Given the description of an element on the screen output the (x, y) to click on. 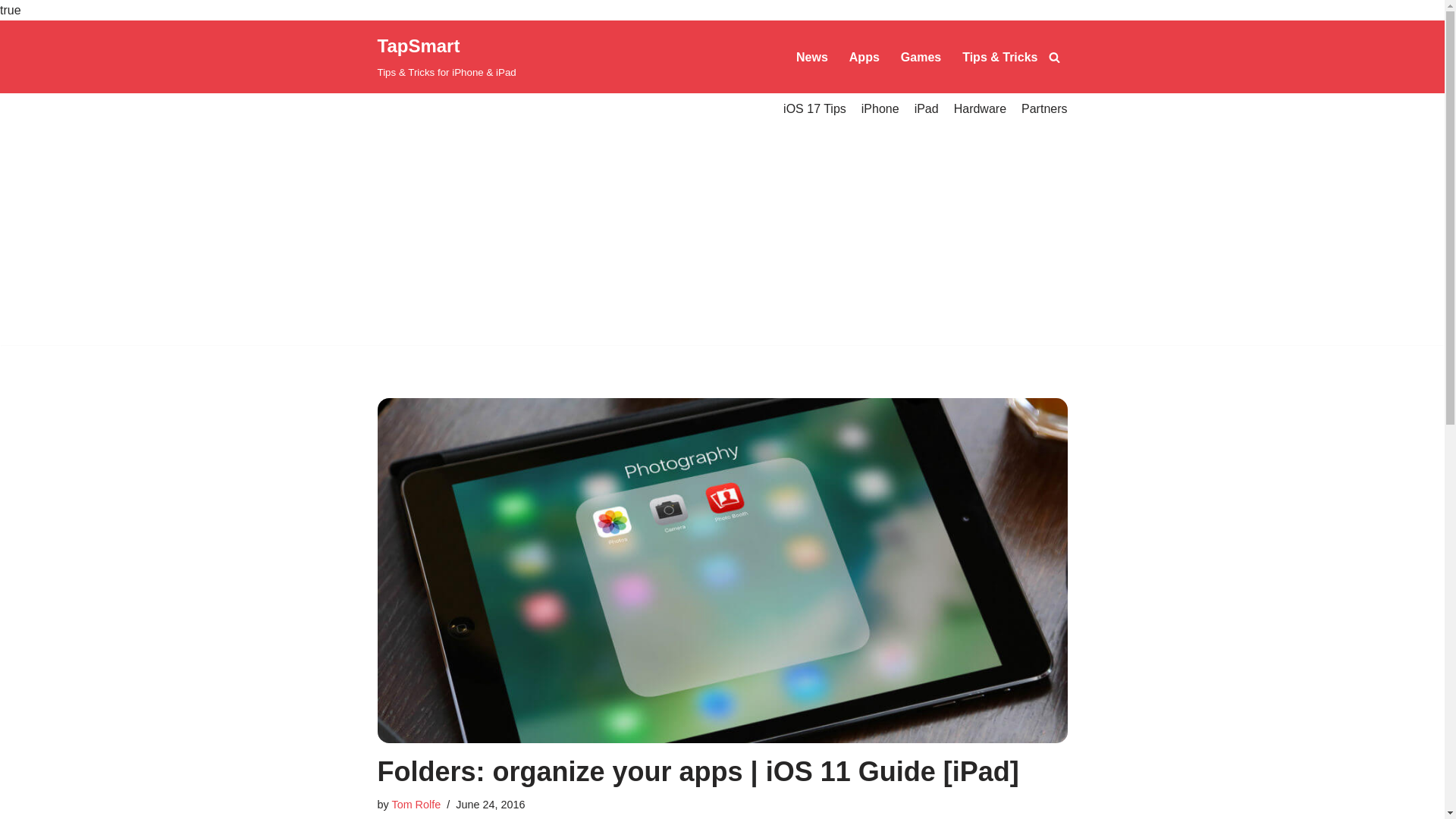
Apps (863, 56)
Tom Rolfe (416, 804)
TapSmart (446, 56)
Skip to content (11, 52)
iPhone (880, 108)
Partners (1044, 108)
News (812, 56)
Games (920, 56)
iOS 17 Tips (814, 108)
